Given the description of an element on the screen output the (x, y) to click on. 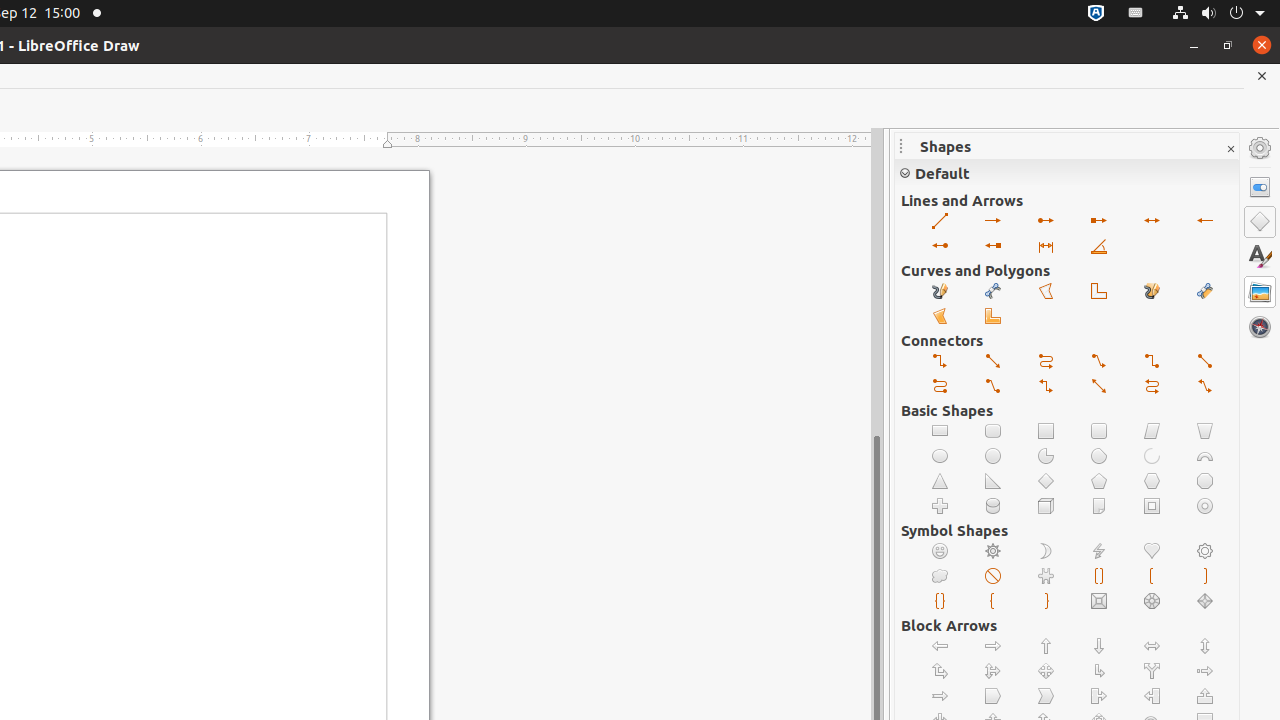
Rectangle Element type: list-item (940, 431)
4-way Arrow Element type: list-item (1046, 671)
Isosceles Triangle Element type: list-item (940, 481)
Right Bracket Element type: list-item (1205, 576)
Curved Connector Ends with Arrow Element type: list-item (1046, 361)
